Given the description of an element on the screen output the (x, y) to click on. 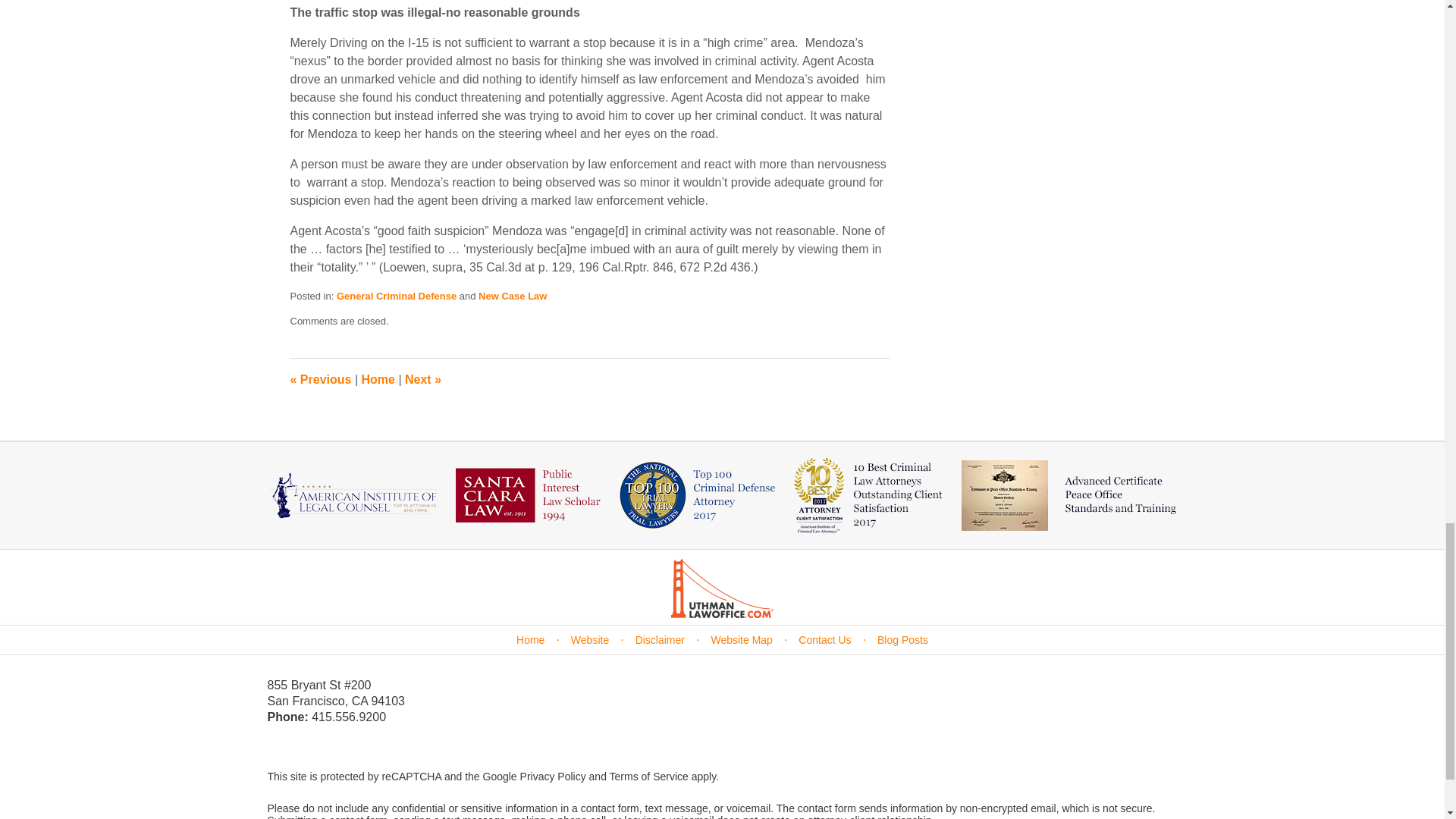
View all posts in General Criminal Defense (396, 296)
View all posts in New Case Law (513, 296)
SB 1437 hearings in SF Superior Court Dept 25 (319, 379)
General Criminal Defense (396, 296)
New Case Law (513, 296)
Home (377, 379)
